Given the description of an element on the screen output the (x, y) to click on. 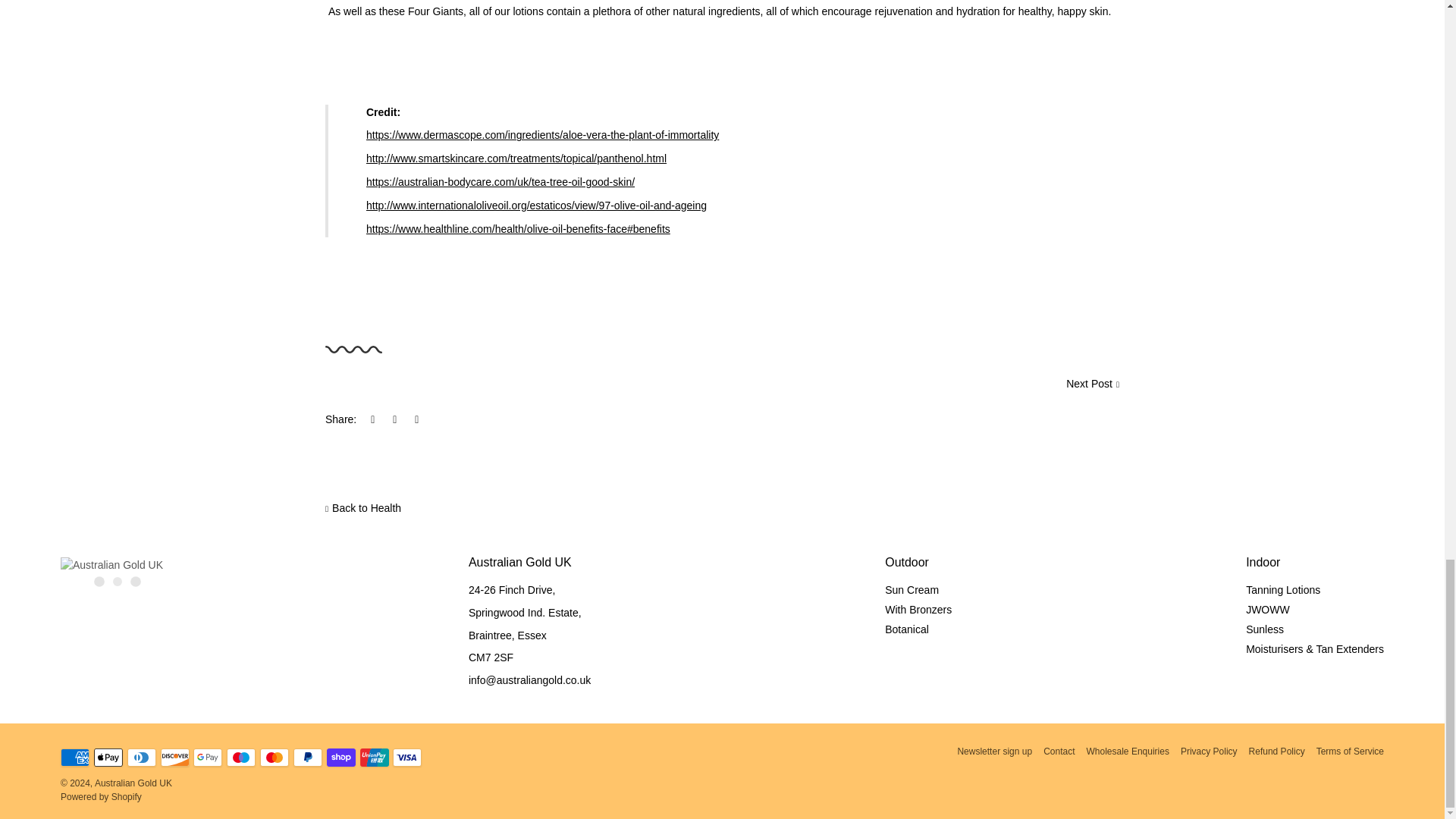
Apple Pay (108, 757)
Shop Pay (340, 757)
Google Pay (207, 757)
Discover (174, 757)
Diners Club (141, 757)
Mastercard (274, 757)
PayPal (307, 757)
Visa (407, 757)
American Express (74, 757)
Maestro (241, 757)
Union Pay (373, 757)
